Given the description of an element on the screen output the (x, y) to click on. 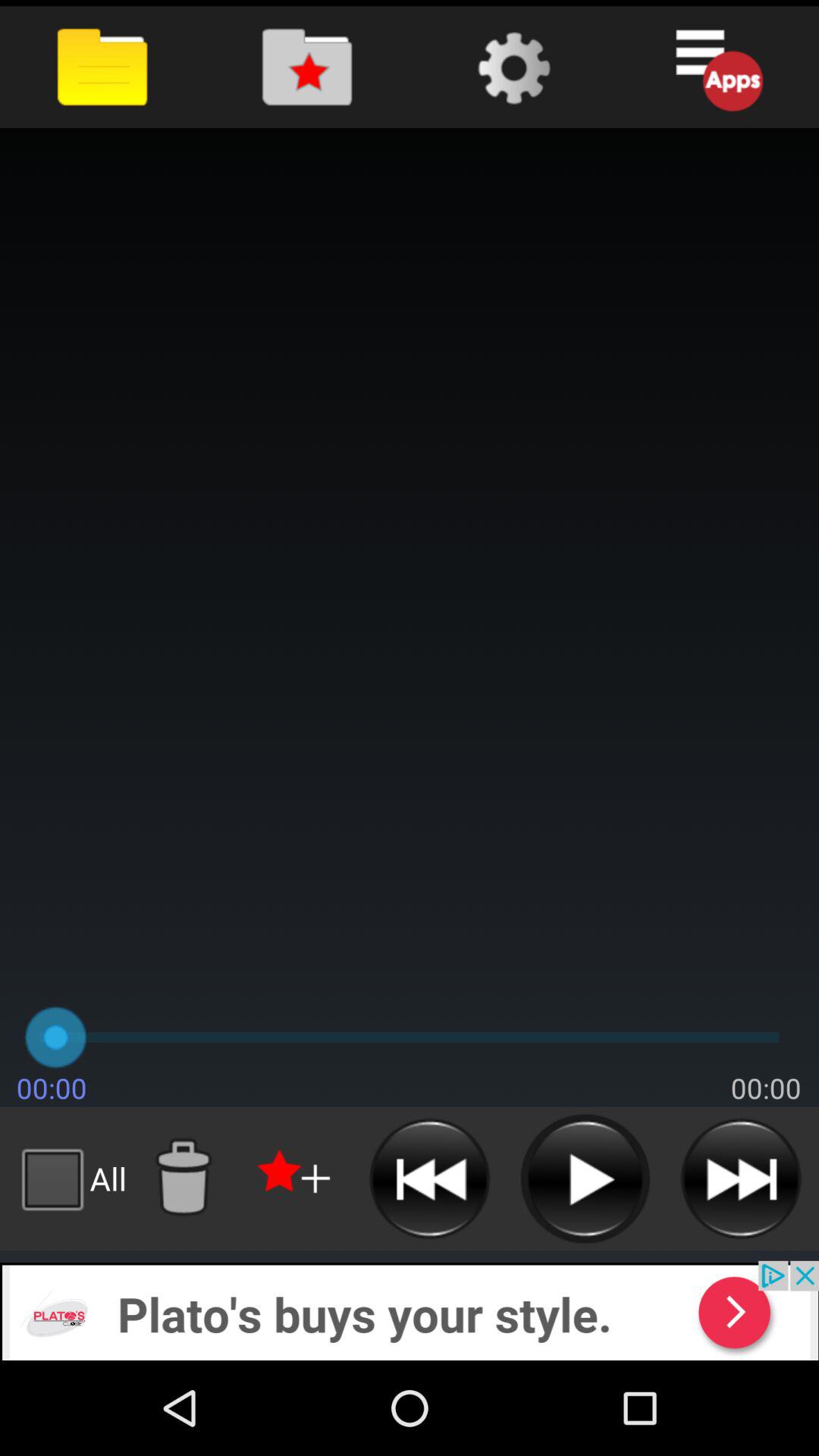
add to favorites (295, 1178)
